Given the description of an element on the screen output the (x, y) to click on. 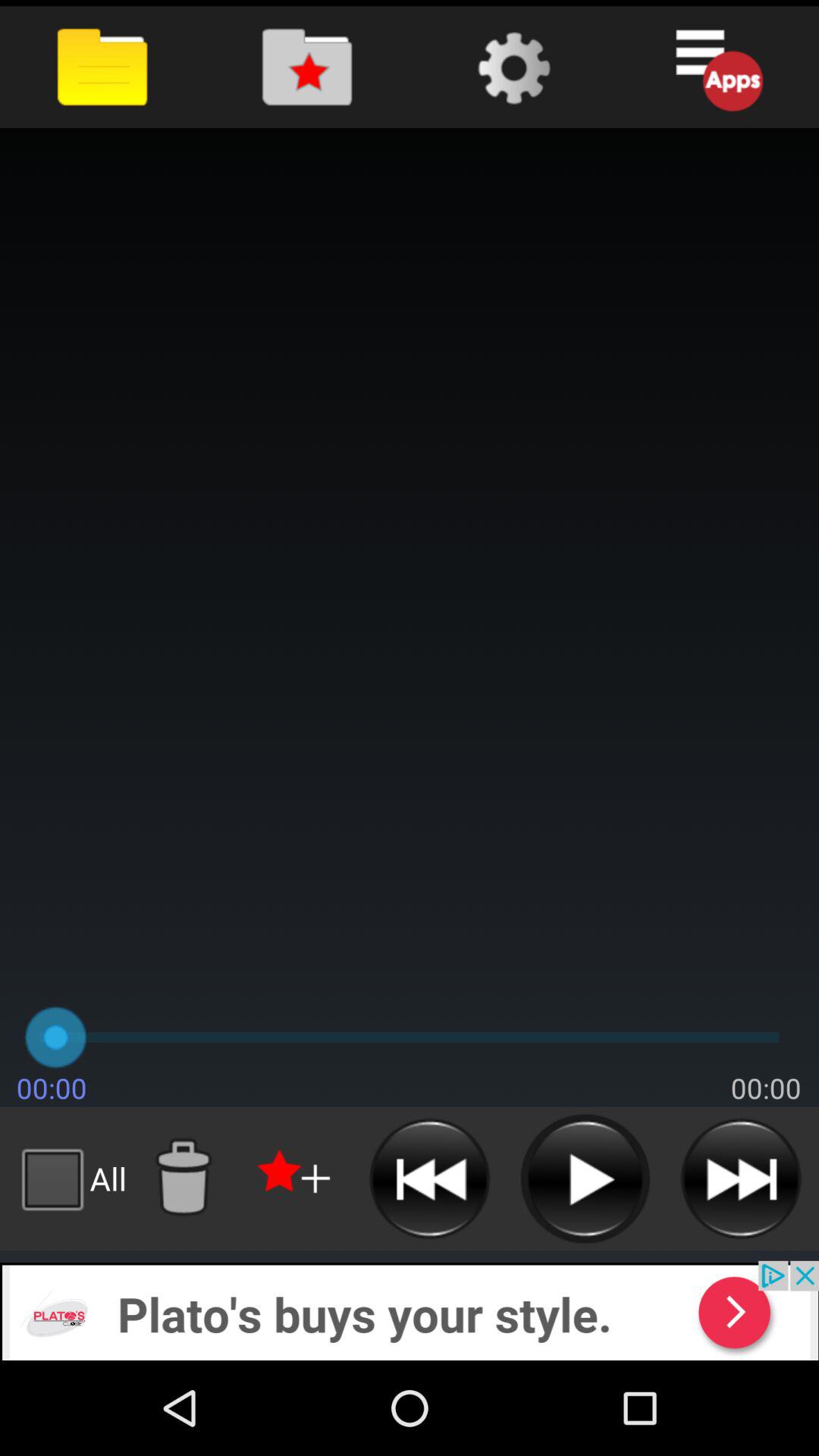
add to favorites (295, 1178)
